Given the description of an element on the screen output the (x, y) to click on. 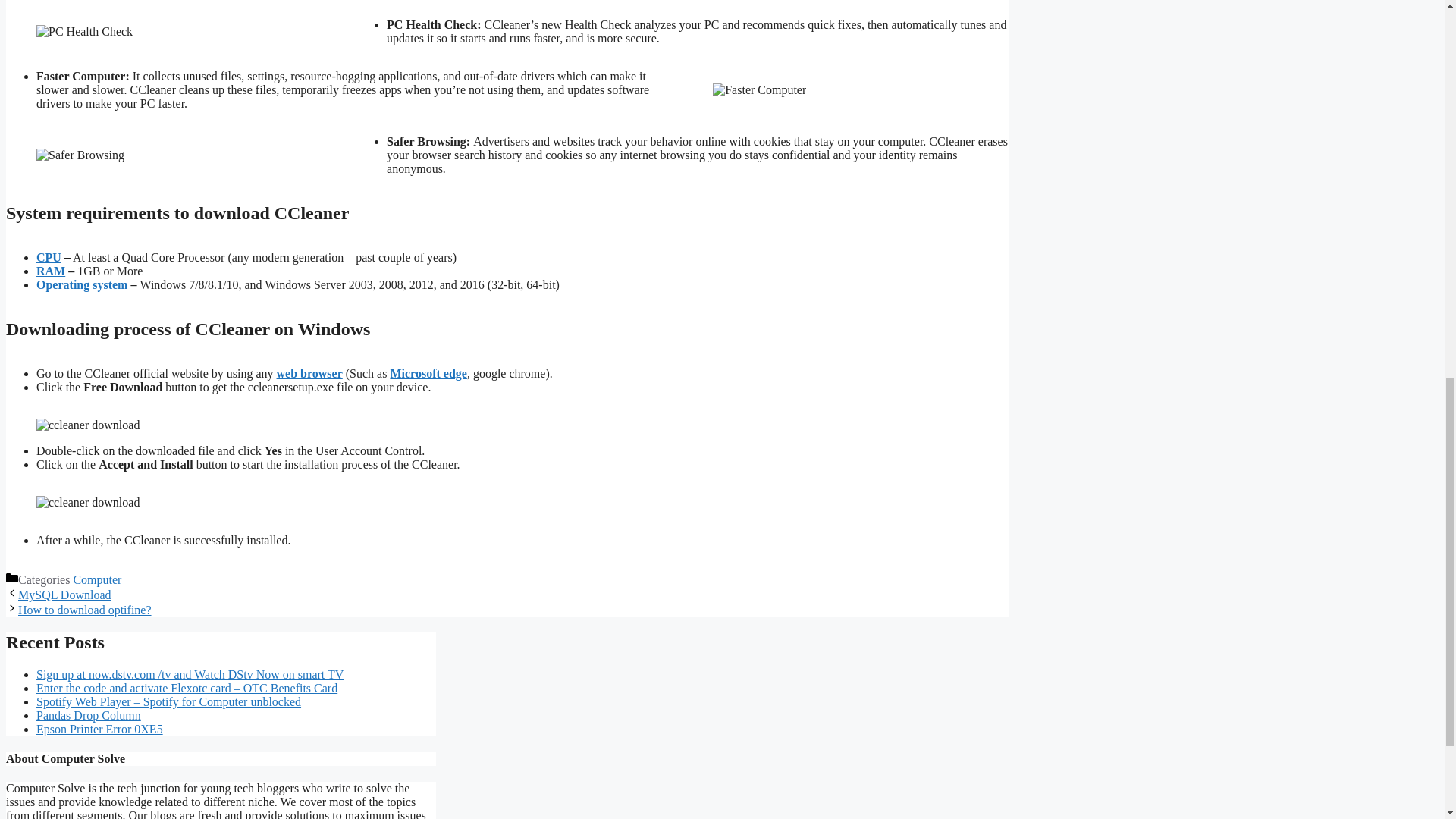
Operating system (82, 284)
How to download optifine? (84, 609)
Microsoft edge (427, 373)
Computer (96, 579)
web browser (309, 373)
CPU (48, 256)
MySQL Download (64, 594)
RAM (50, 270)
